Given the description of an element on the screen output the (x, y) to click on. 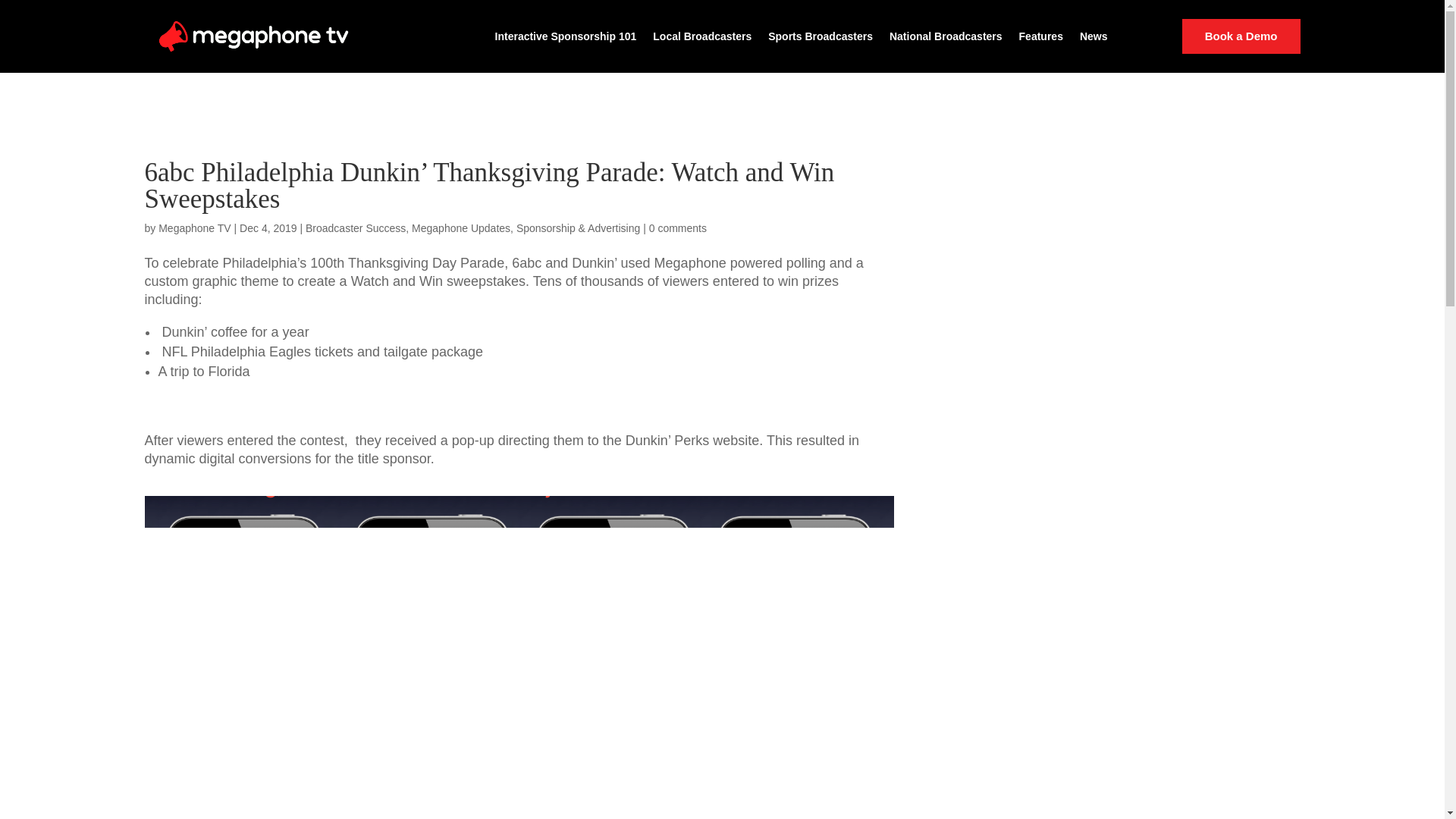
Posts by Megaphone TV (194, 227)
Local Broadcasters (701, 36)
National Broadcasters (946, 36)
Megaphone TV (194, 227)
Megaphone Updates (461, 227)
Sports Broadcasters (820, 36)
Interactive Sponsorship 101 (566, 36)
Book a Demo (1241, 36)
Broadcaster Success (355, 227)
0 comments (677, 227)
